Given the description of an element on the screen output the (x, y) to click on. 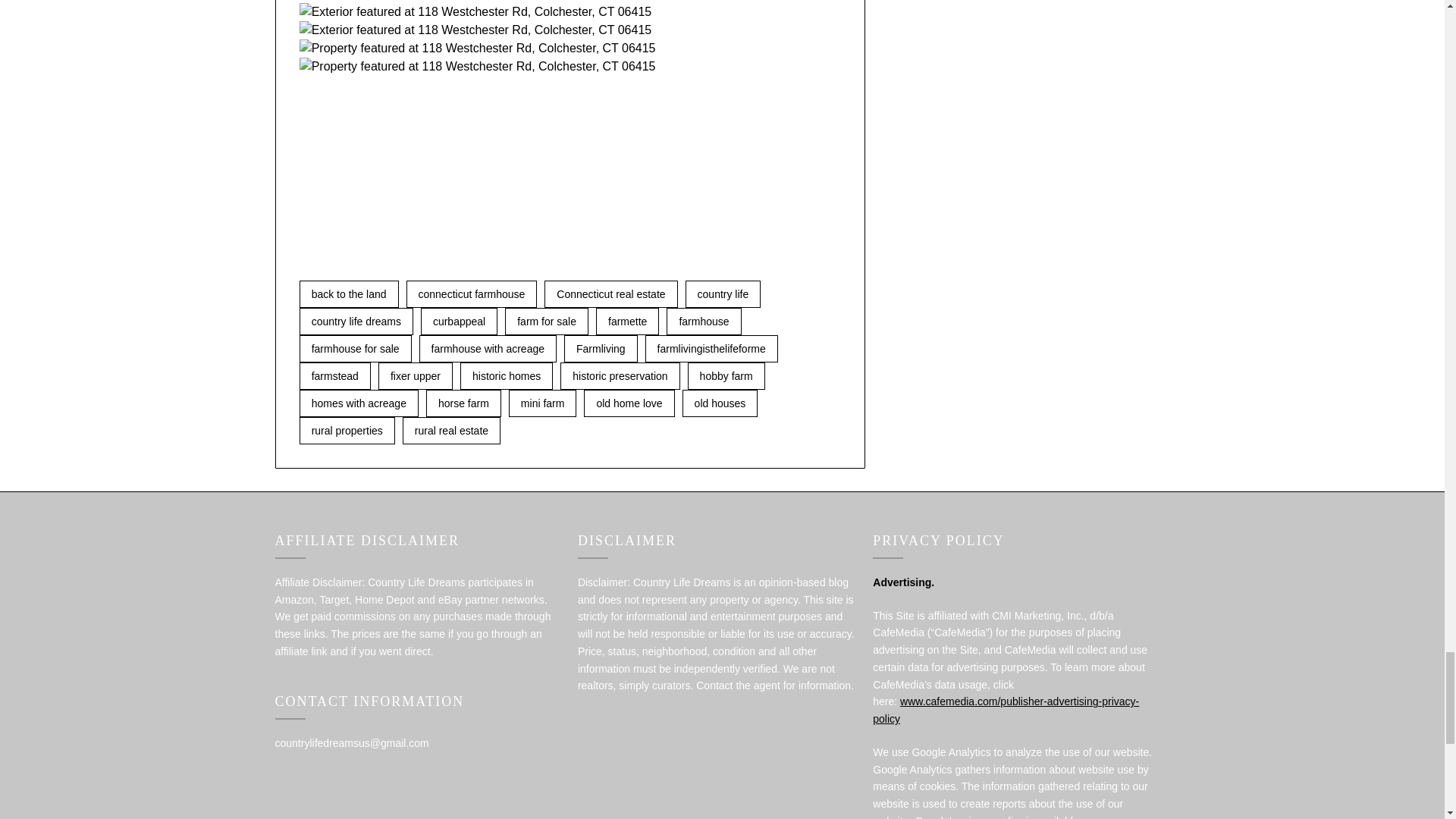
back to the land (348, 293)
farmette (627, 320)
farm for sale (546, 320)
country life (723, 293)
country life dreams (356, 320)
curbappeal (458, 320)
farmhouse (703, 320)
connecticut farmhouse (471, 293)
Connecticut real estate (610, 293)
